Given the description of an element on the screen output the (x, y) to click on. 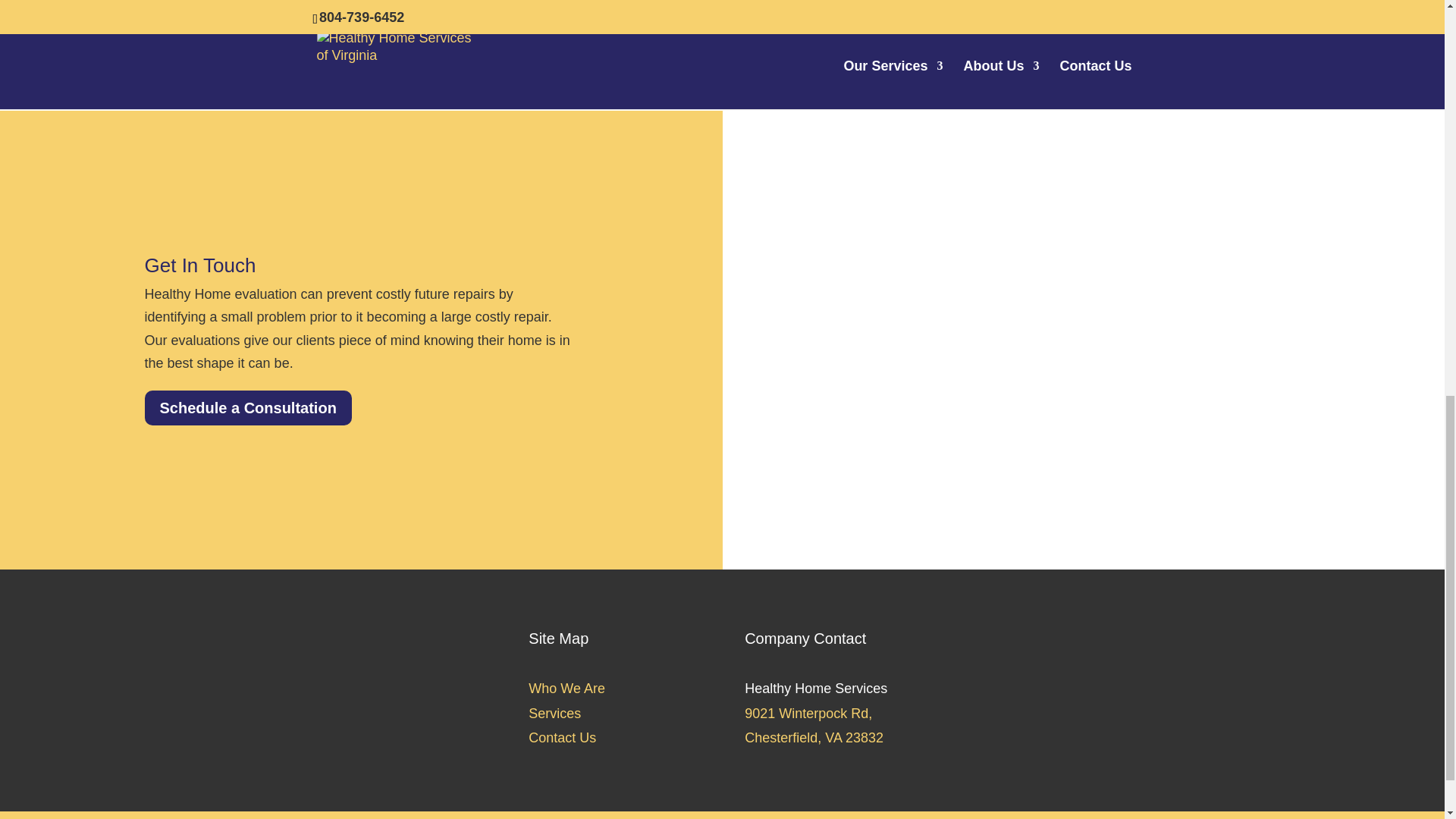
Services (554, 713)
Chesterfield, VA 23832 (813, 737)
Who We Are (566, 688)
9021 Winterpock Rd, (808, 713)
Schedule a Consultation (247, 407)
Contact Us (561, 737)
